Given the description of an element on the screen output the (x, y) to click on. 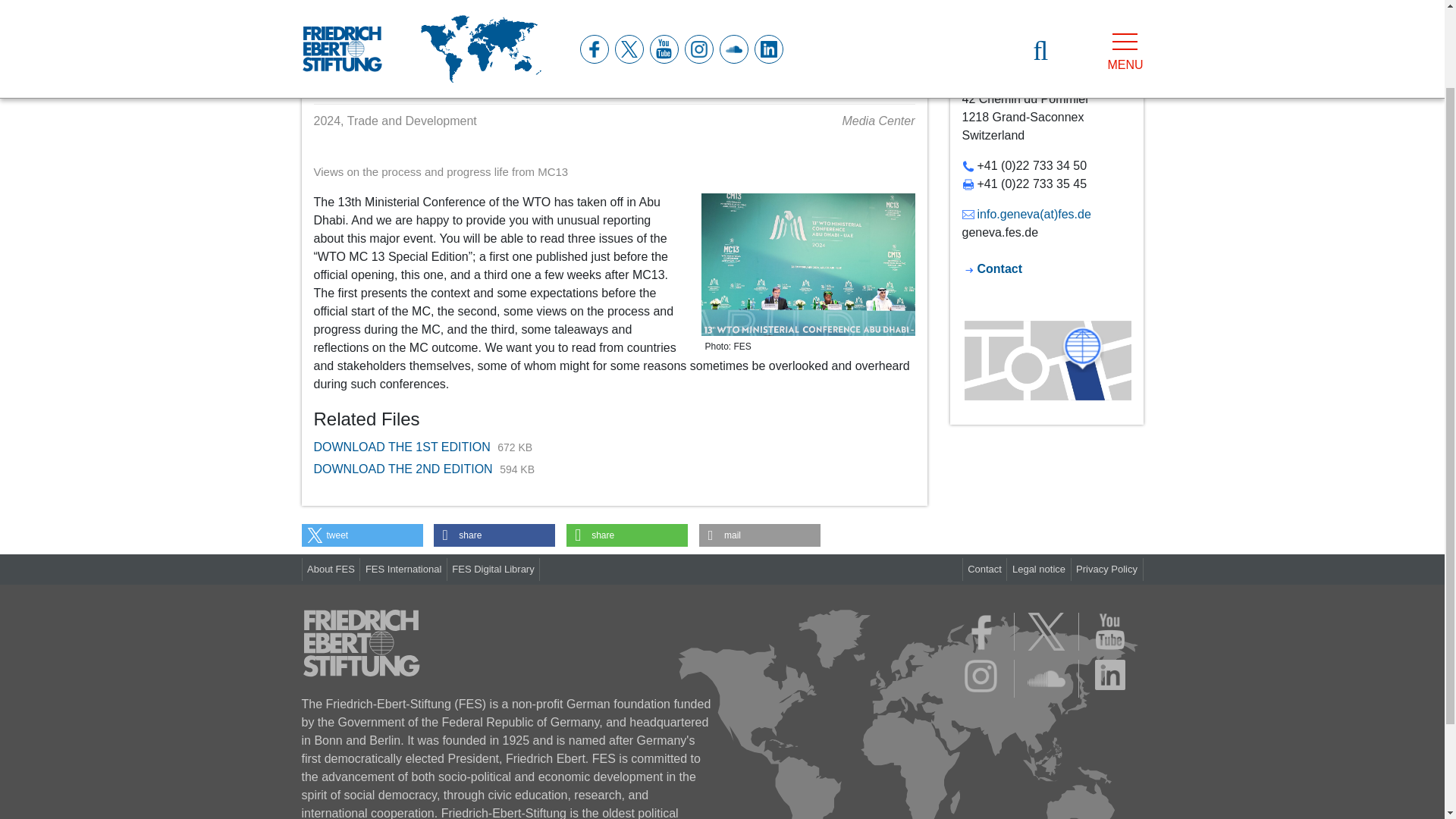
tweet (362, 535)
send email (1025, 214)
internal link (1031, 67)
Special edition II: The Mont Blanc Trade News (456, 16)
Share on Twitter (362, 535)
2024 02 MC13 (807, 264)
Share on Facebook (493, 535)
Share on Whatsapp (626, 535)
Home (317, 16)
share (493, 535)
DOWNLOAD THE 2ND EDITION (405, 468)
Internal Link (991, 268)
DOWNLOAD THE 1ST EDITION (404, 446)
Send by email (759, 535)
